Given the description of an element on the screen output the (x, y) to click on. 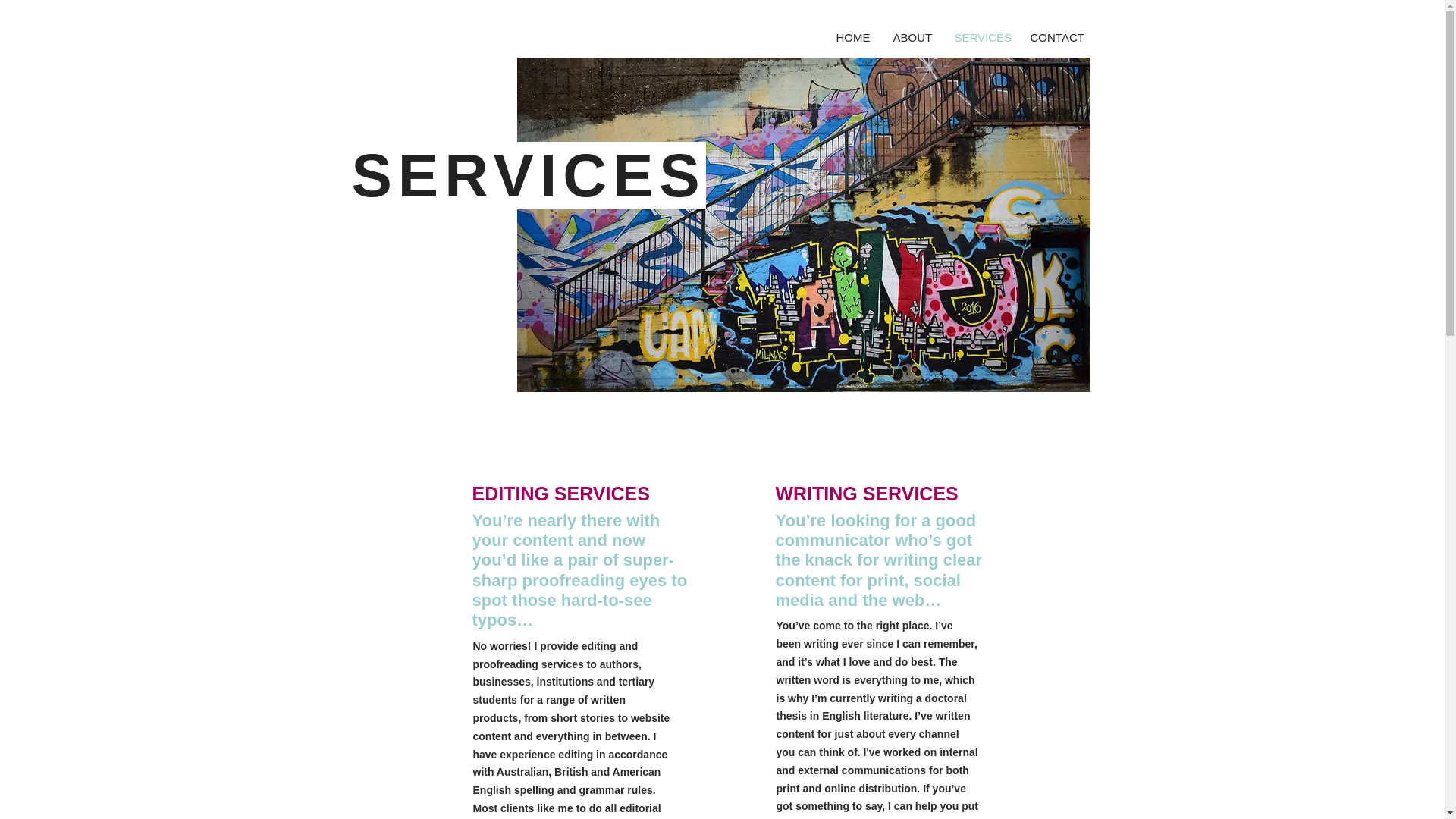
HOME (853, 37)
CONTACT (1056, 37)
SERVICES (981, 37)
ABOUT (911, 37)
